Given the description of an element on the screen output the (x, y) to click on. 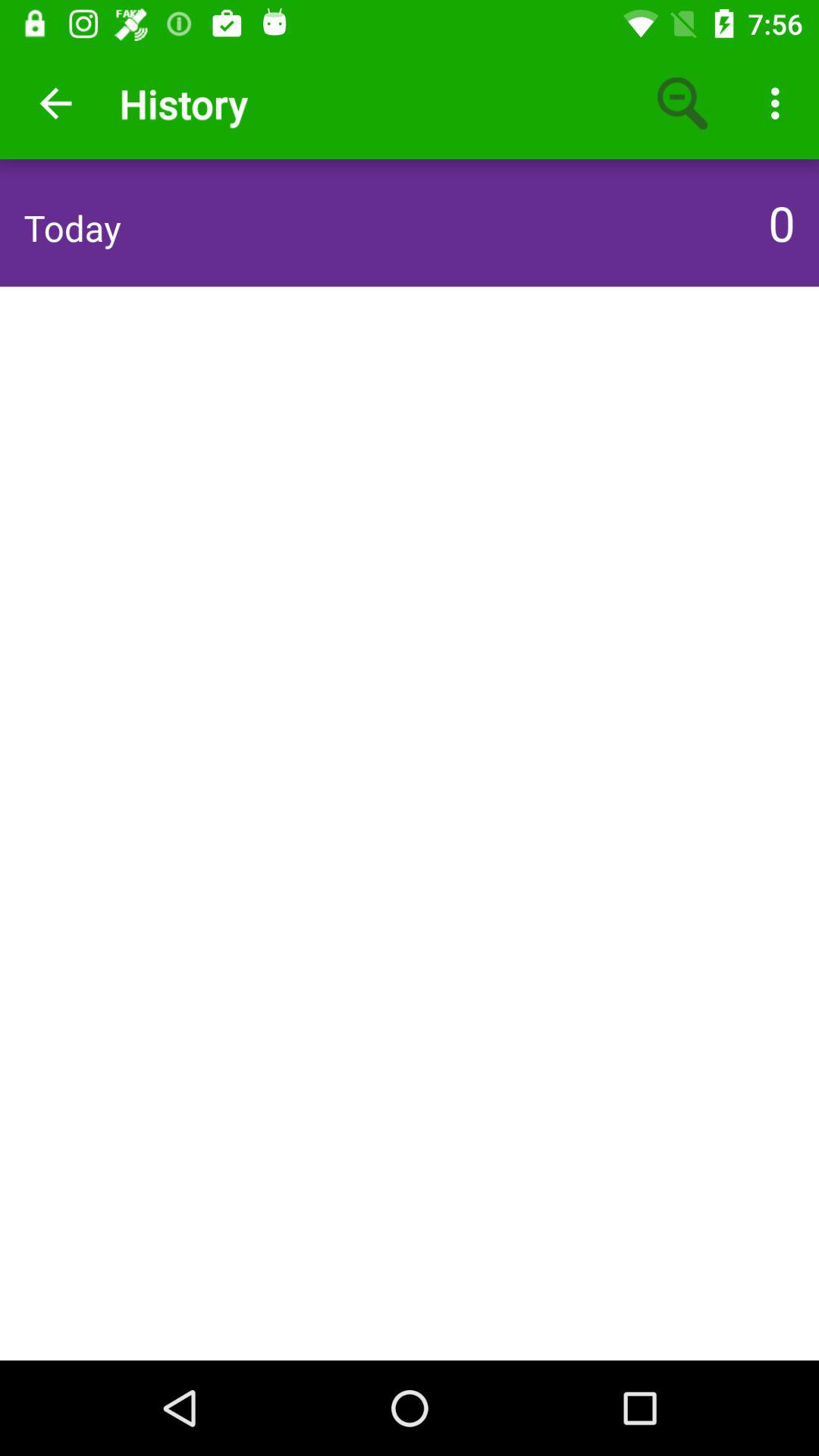
launch app next to history app (683, 103)
